Given the description of an element on the screen output the (x, y) to click on. 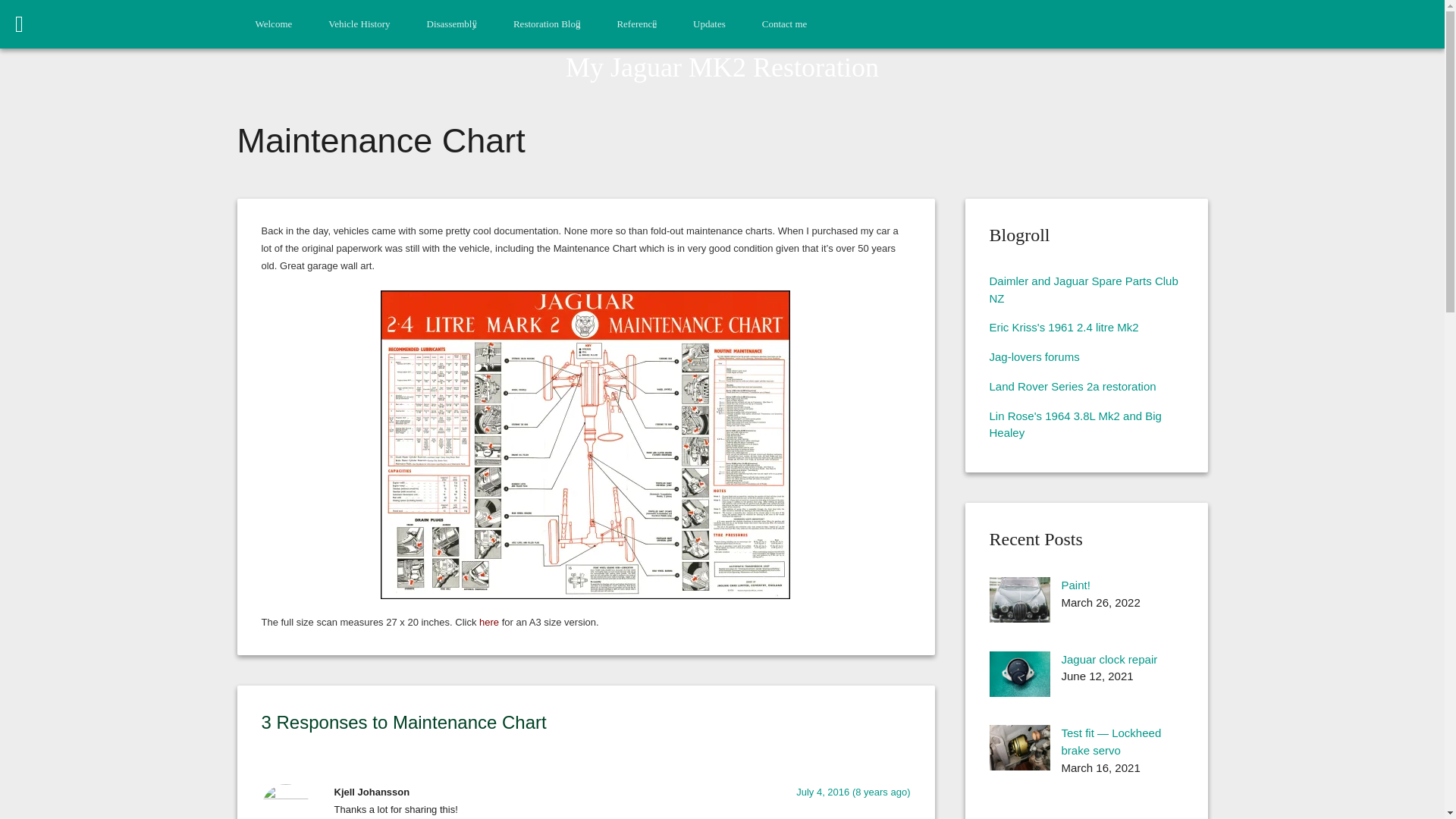
Welcome (272, 24)
Jaguar clock repair (1018, 692)
Paint! (1018, 617)
The ground up restoration of an iconic Series 2a Land Rover (1072, 386)
Restoration Blog (546, 24)
Vehicle History (358, 24)
Disassembly (451, 24)
Link to the Jaguar Lovers forums (1033, 356)
The ground up restoration of a 1962 Mk2 2.4L by Kriss Motors (1063, 327)
